Given the description of an element on the screen output the (x, y) to click on. 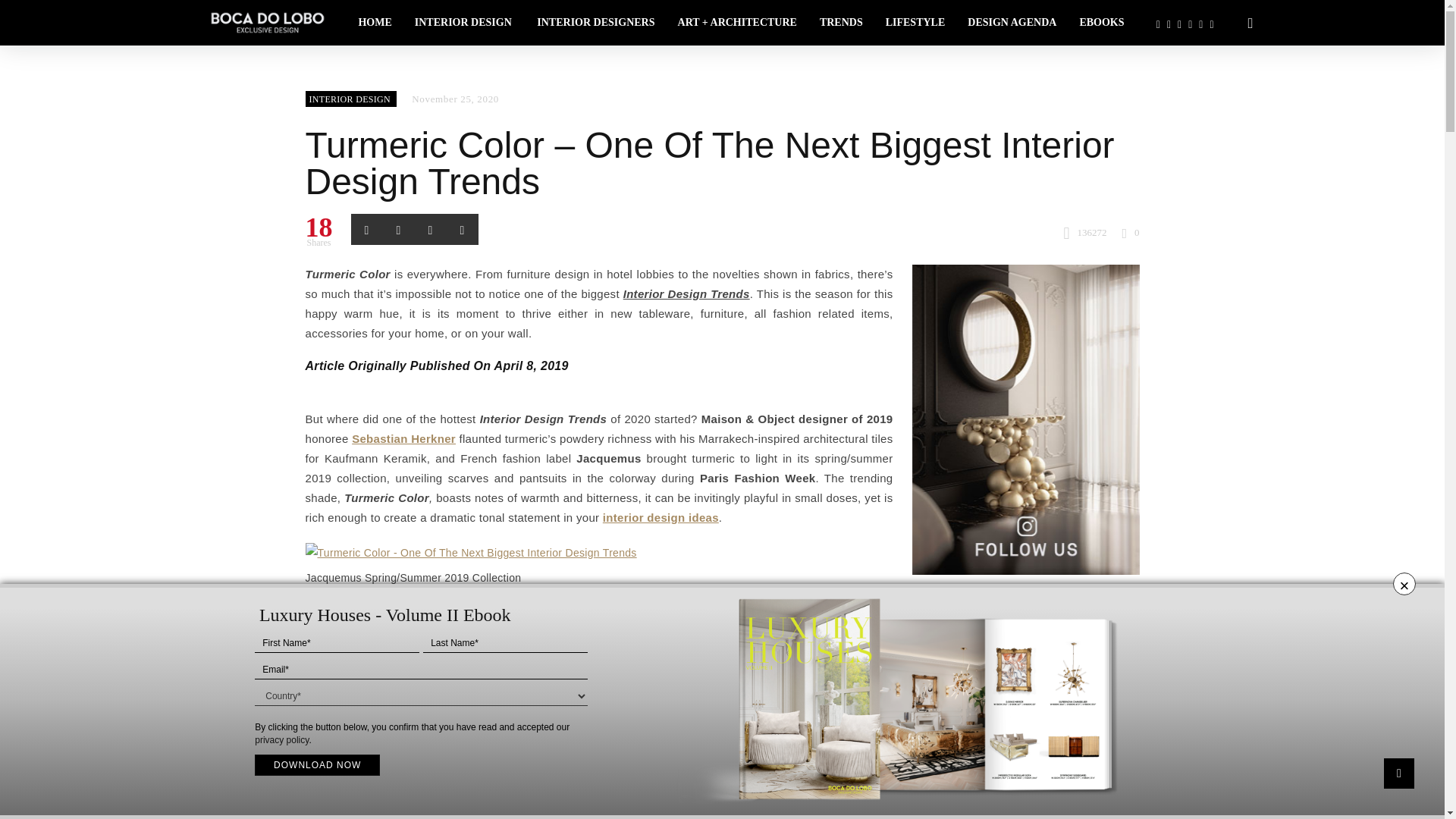
Share this (429, 228)
HOME (374, 22)
DESIGN AGENDA (1011, 22)
Share this (365, 228)
LIFESTYLE (915, 22)
INTERIOR DESIGNERS (595, 22)
INTERIOR DESIGN  (464, 22)
Tweet (397, 228)
Download Now (317, 764)
TRENDS (841, 22)
No Comment (1129, 232)
EBOOKS (1101, 22)
